Given the description of an element on the screen output the (x, y) to click on. 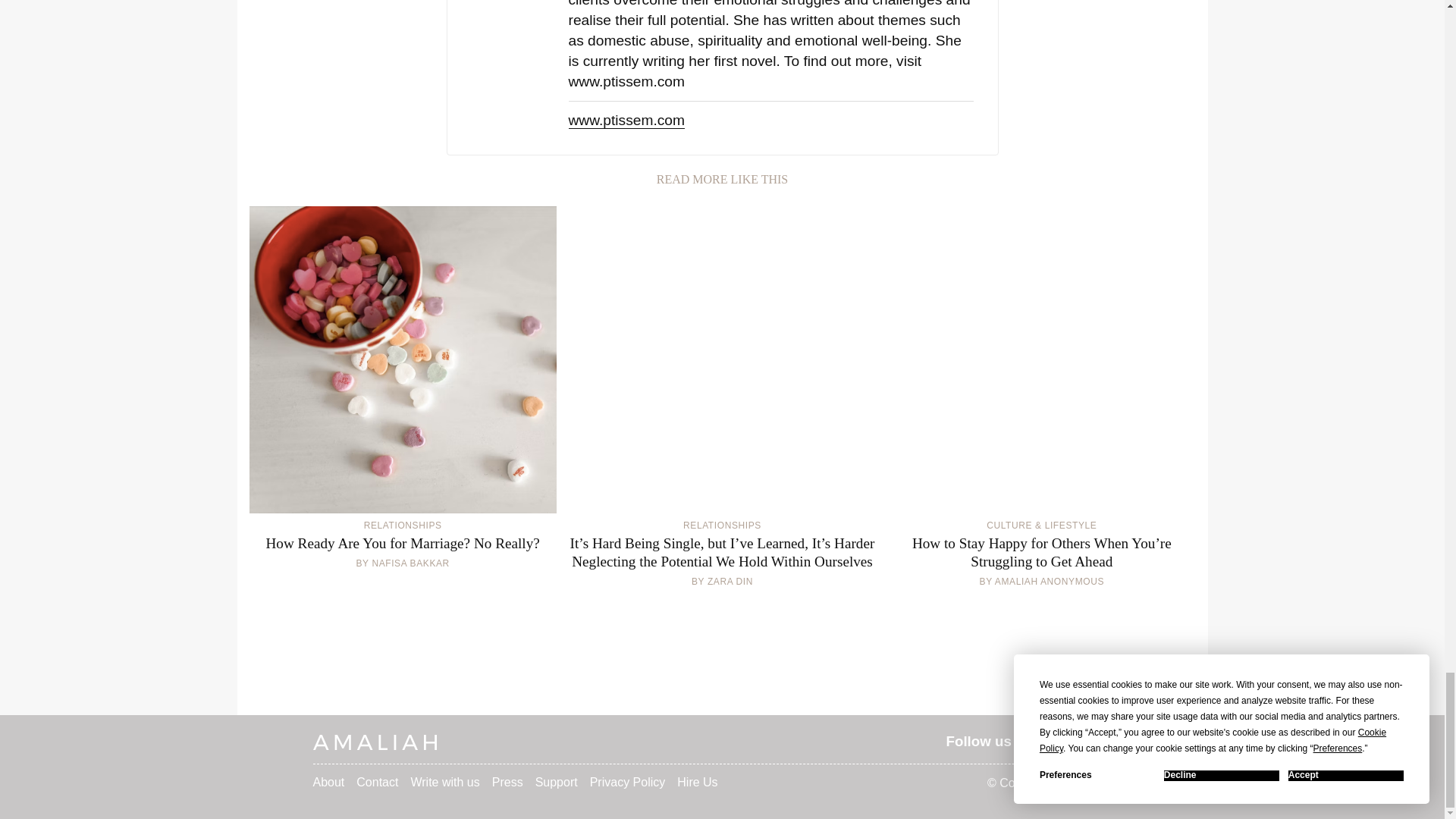
Support (556, 781)
Contact (376, 781)
About (328, 781)
Write with us (444, 781)
Privacy Policy (627, 781)
www.ptissem.com (627, 118)
Press (507, 781)
